Given the description of an element on the screen output the (x, y) to click on. 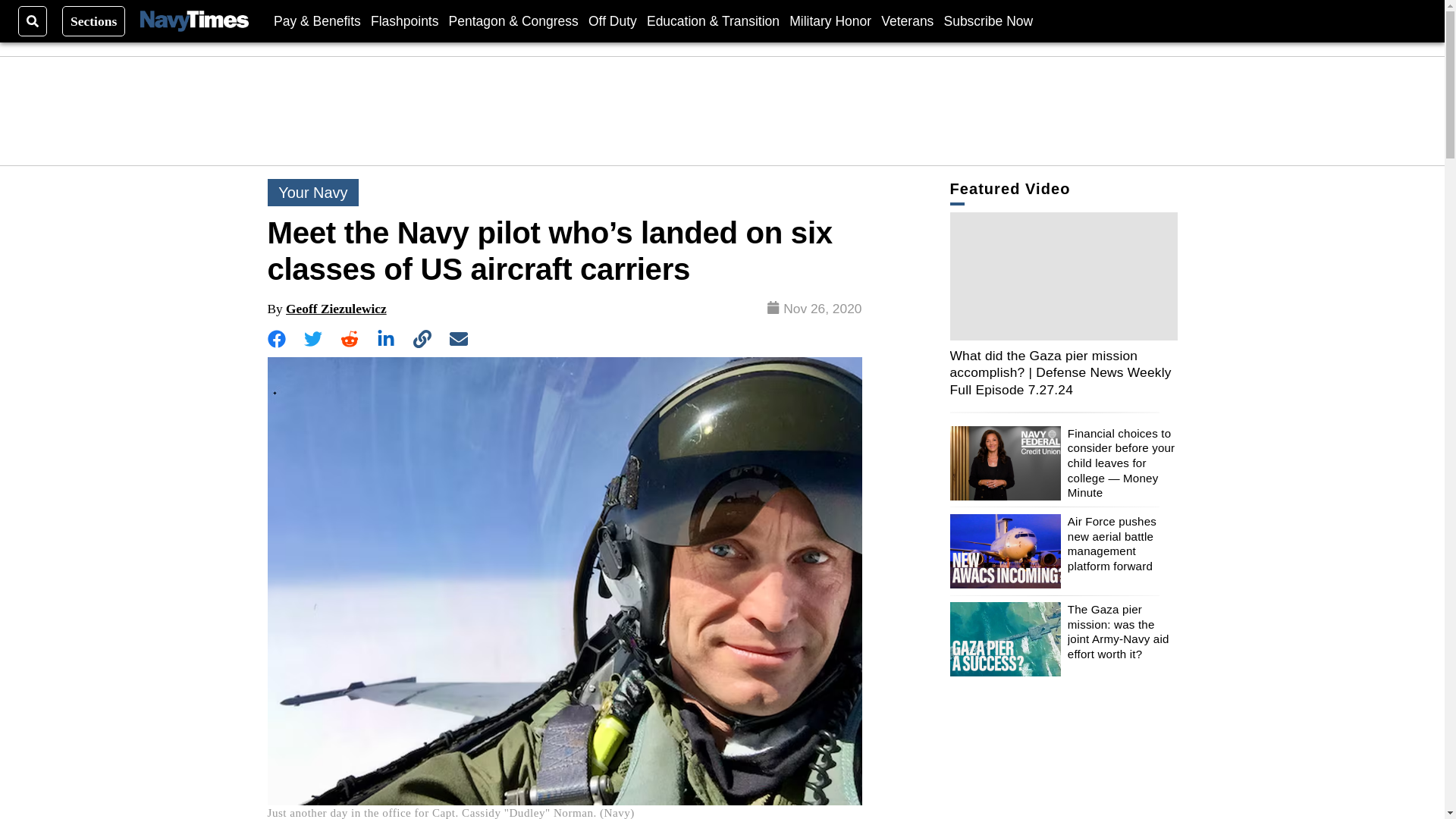
Military Honor (829, 20)
Flashpoints (405, 20)
Off Duty (612, 20)
Navy Times Logo (193, 20)
Veterans (906, 20)
Sections (93, 20)
